Given the description of an element on the screen output the (x, y) to click on. 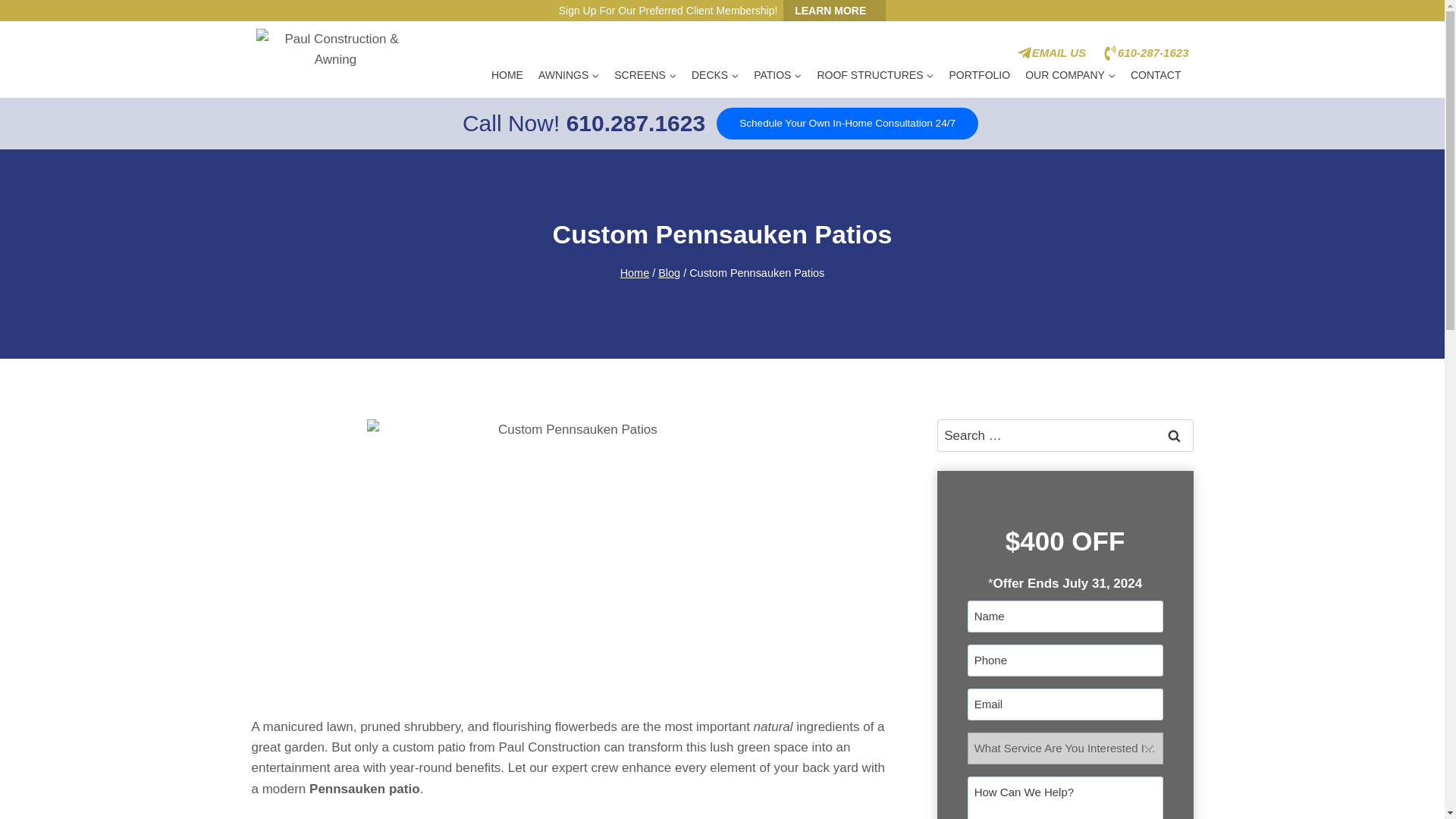
Search (1174, 435)
610-287-1623 (1145, 52)
ROOF STRUCTURES (874, 75)
HOME (507, 75)
PORTFOLIO (978, 75)
Search (1174, 435)
DECKS (714, 75)
SCREENS (645, 75)
AWNINGS (569, 75)
PATIOS (777, 75)
EMAIL US (1051, 52)
LEARN MORE (834, 10)
